Given the description of an element on the screen output the (x, y) to click on. 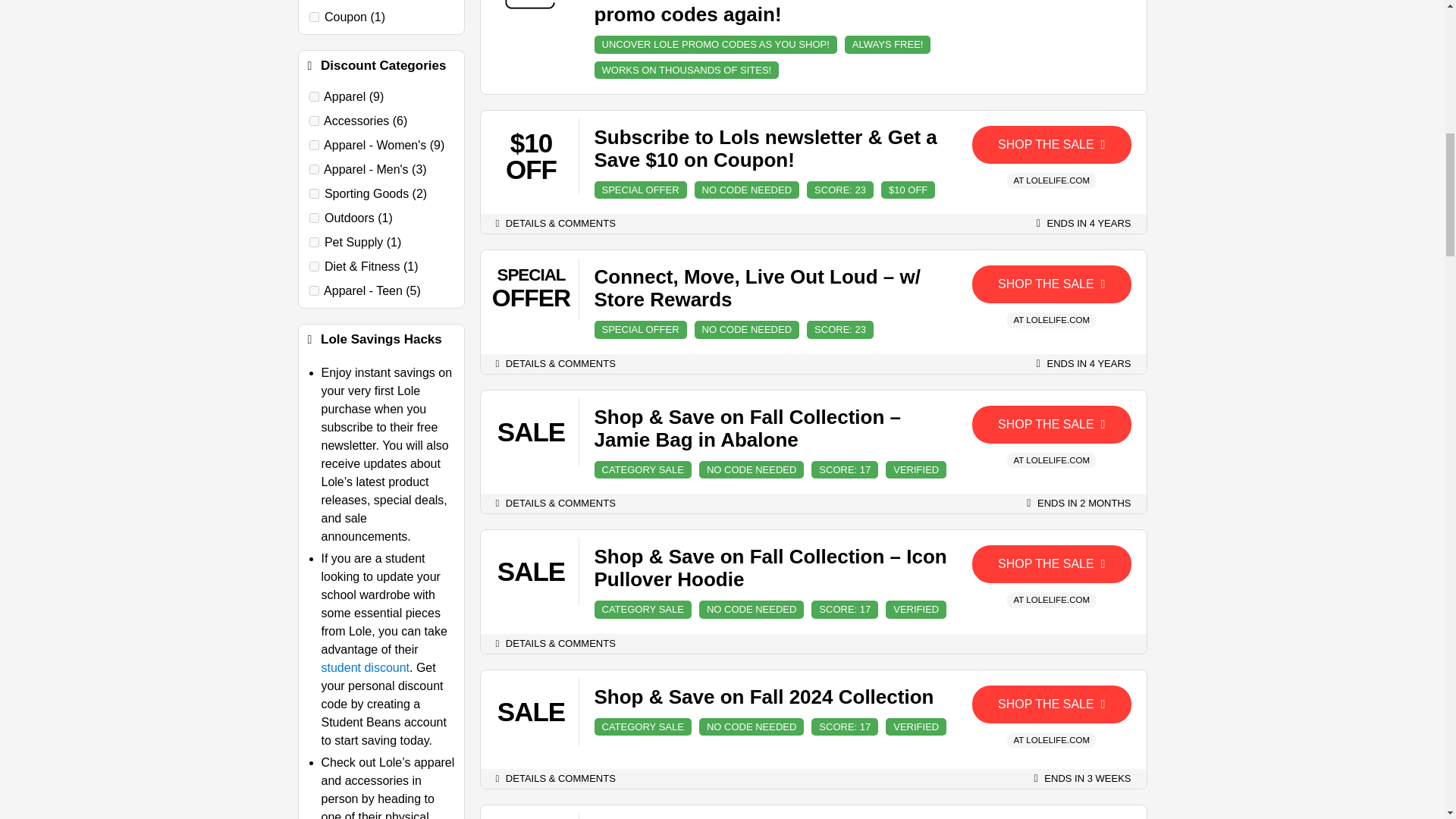
apparel (313, 96)
accessories (313, 121)
coupon (313, 17)
outdoors (313, 217)
apparel-women (313, 144)
diet-fitness (313, 266)
teens (313, 290)
apparel-men (313, 169)
pets (313, 242)
sports (313, 194)
